Given the description of an element on the screen output the (x, y) to click on. 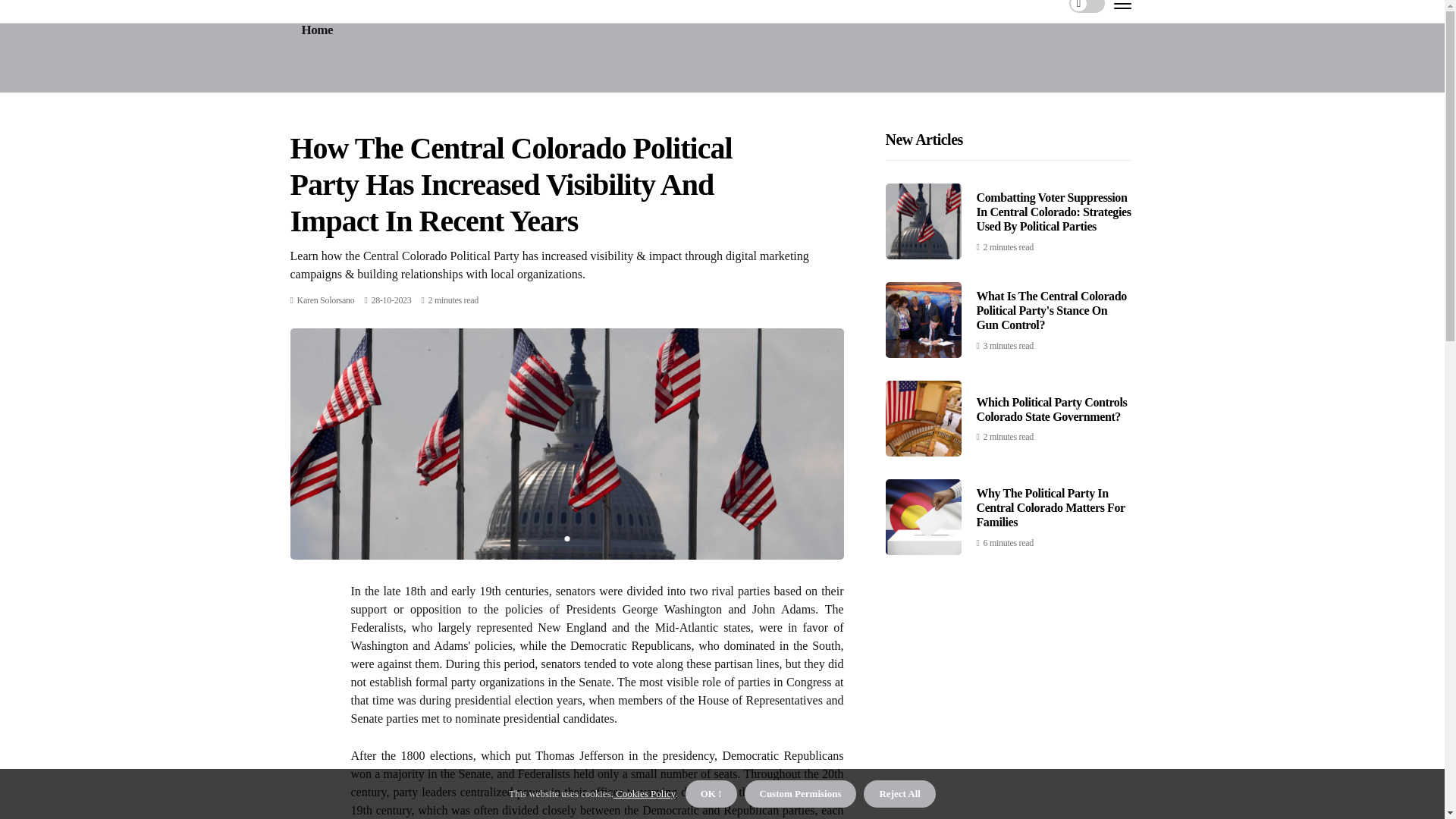
Karen Solorsano (326, 299)
Home (317, 30)
Posts by Karen Solorsano (326, 299)
Which Political Party Controls Colorado State Government? (1051, 409)
